Given the description of an element on the screen output the (x, y) to click on. 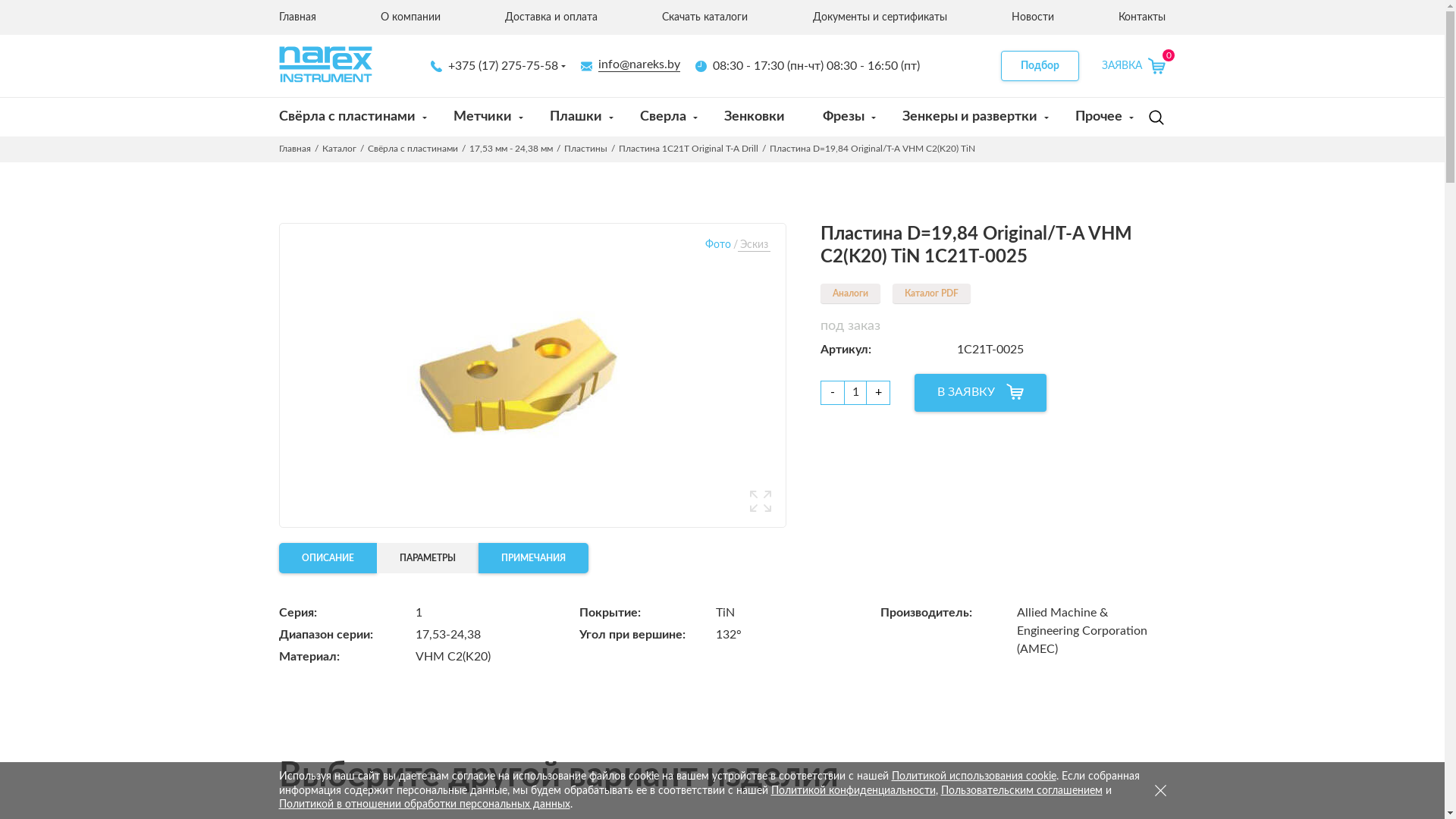
- Element type: text (832, 392)
+ Element type: text (877, 392)
info@nareks.by Element type: text (630, 65)
+375 (17) 275-75-58 Element type: text (494, 65)
